Given the description of an element on the screen output the (x, y) to click on. 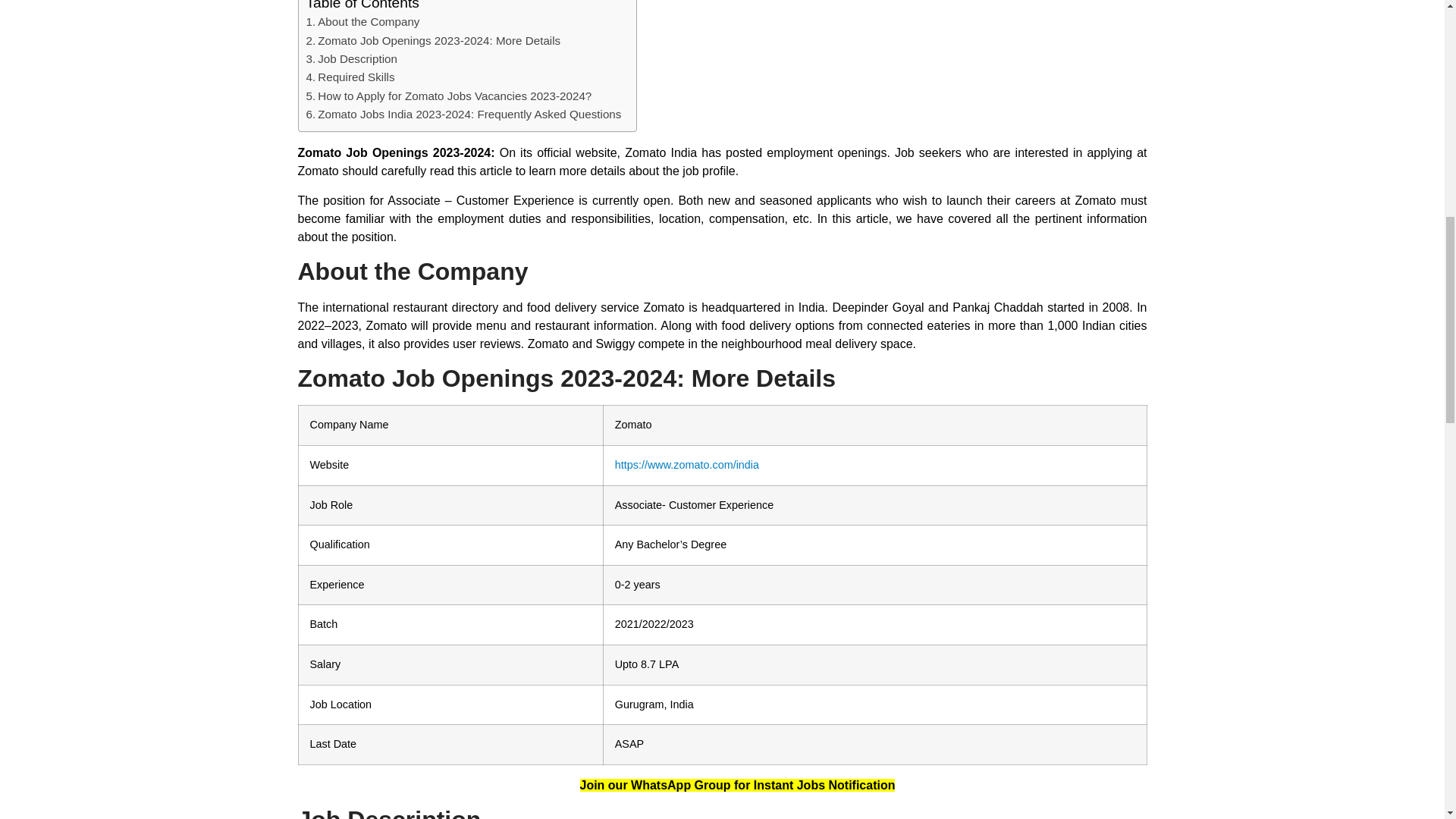
Required Skills (349, 76)
About the Company (362, 22)
Job Description (351, 58)
Zomato Job Openings 2023-2024: More Details (432, 40)
How to Apply for Zomato Jobs Vacancies 2023-2024? (448, 95)
Zomato Jobs India 2023-2024: Frequently Asked Questions (463, 114)
